Given the description of an element on the screen output the (x, y) to click on. 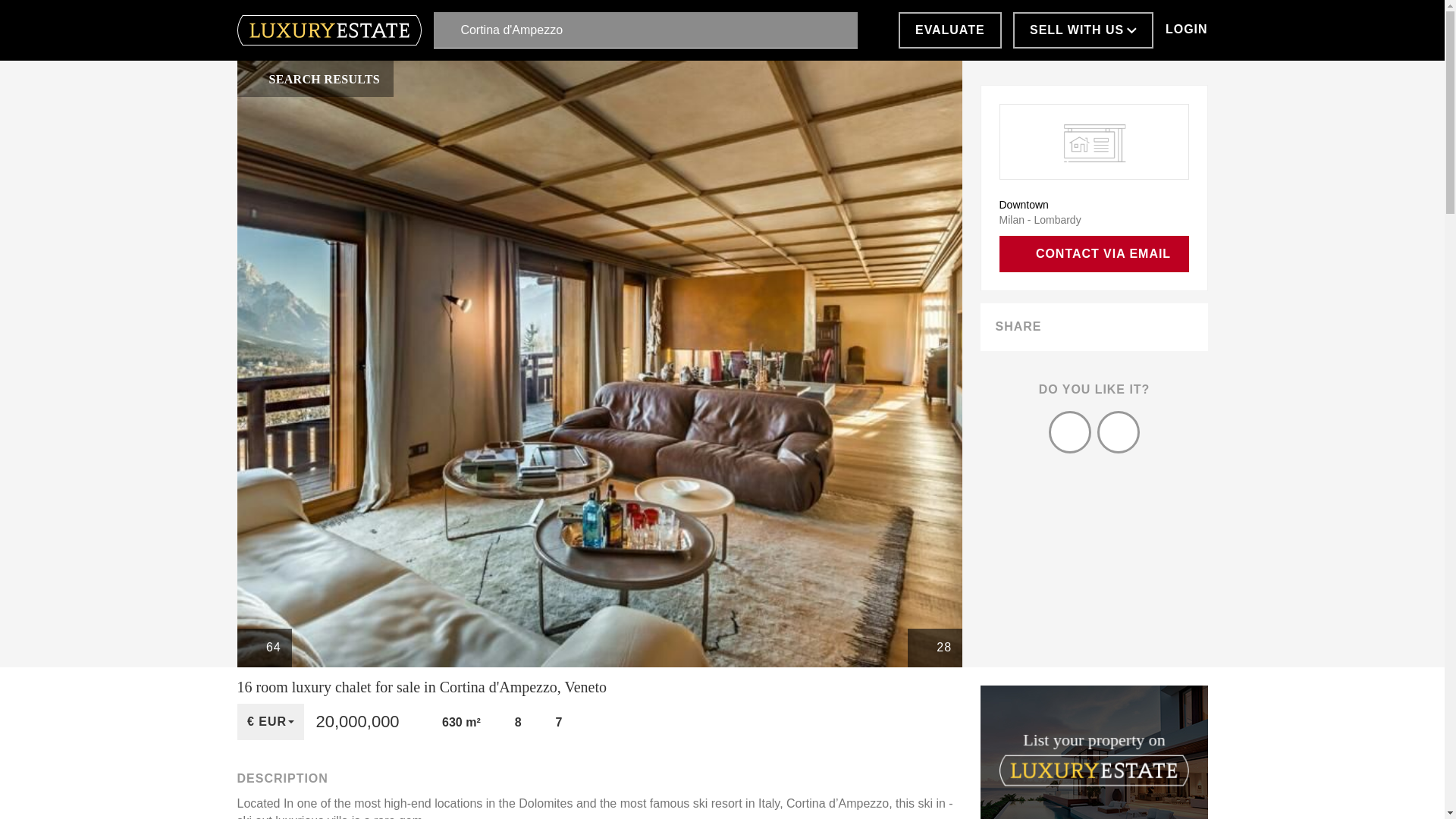
CONTACT VIA EMAIL (1093, 253)
LOGIN (1186, 30)
Downtown (1023, 204)
EVALUATE (949, 30)
SELL WITH US (1083, 30)
Cortina d'Ampezzo (645, 30)
